Given the description of an element on the screen output the (x, y) to click on. 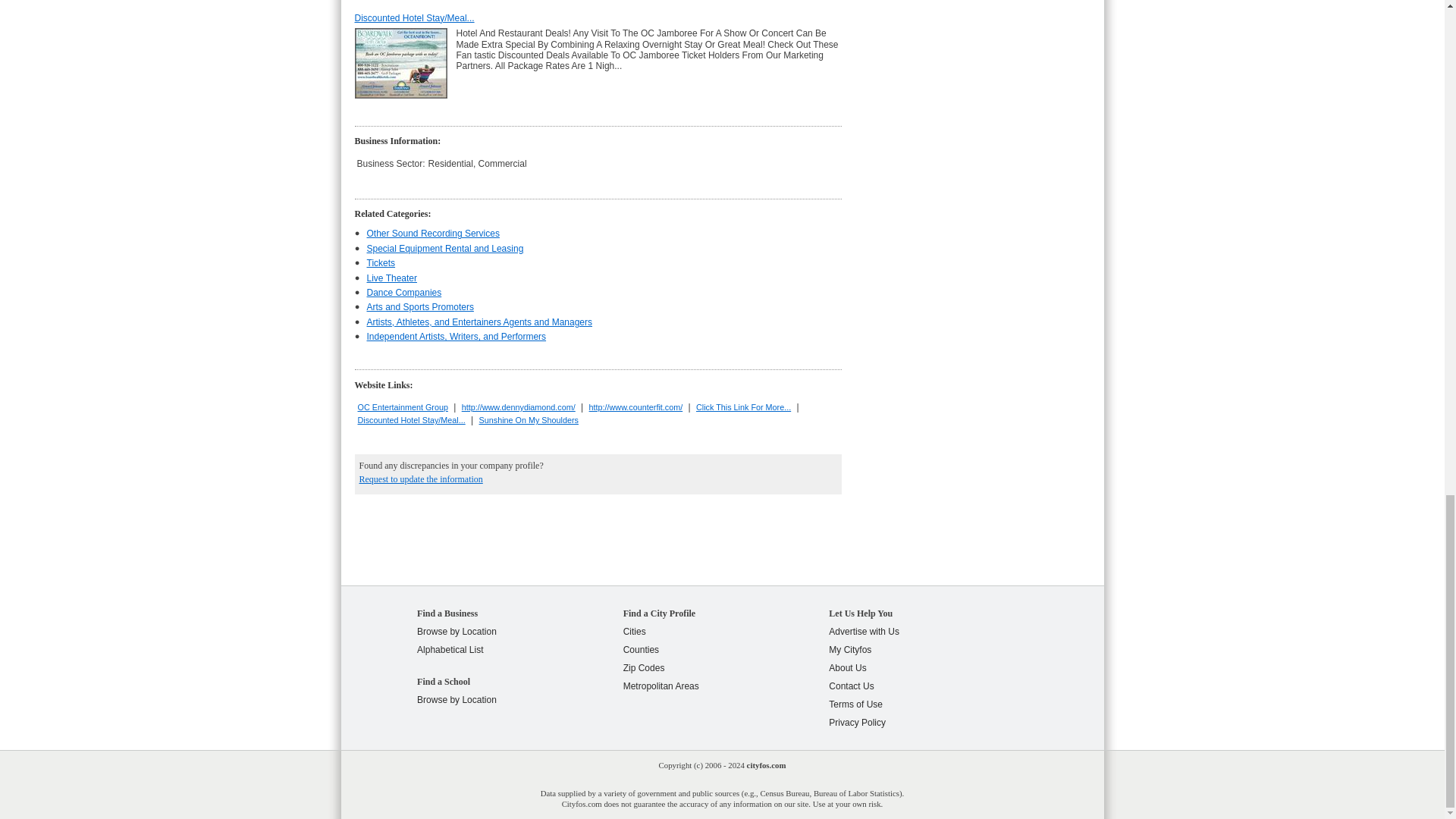
Browse by Location (456, 631)
Request to update the information (421, 479)
Sunshine On My Shoulders (528, 420)
Zip Codes (644, 667)
Independent Artists, Writers, and Performers (456, 336)
Dance Companies (404, 292)
Live Theater (391, 277)
Browse by Location (456, 699)
Counties (641, 649)
Special Equipment Rental and Leasing (445, 248)
